Given the description of an element on the screen output the (x, y) to click on. 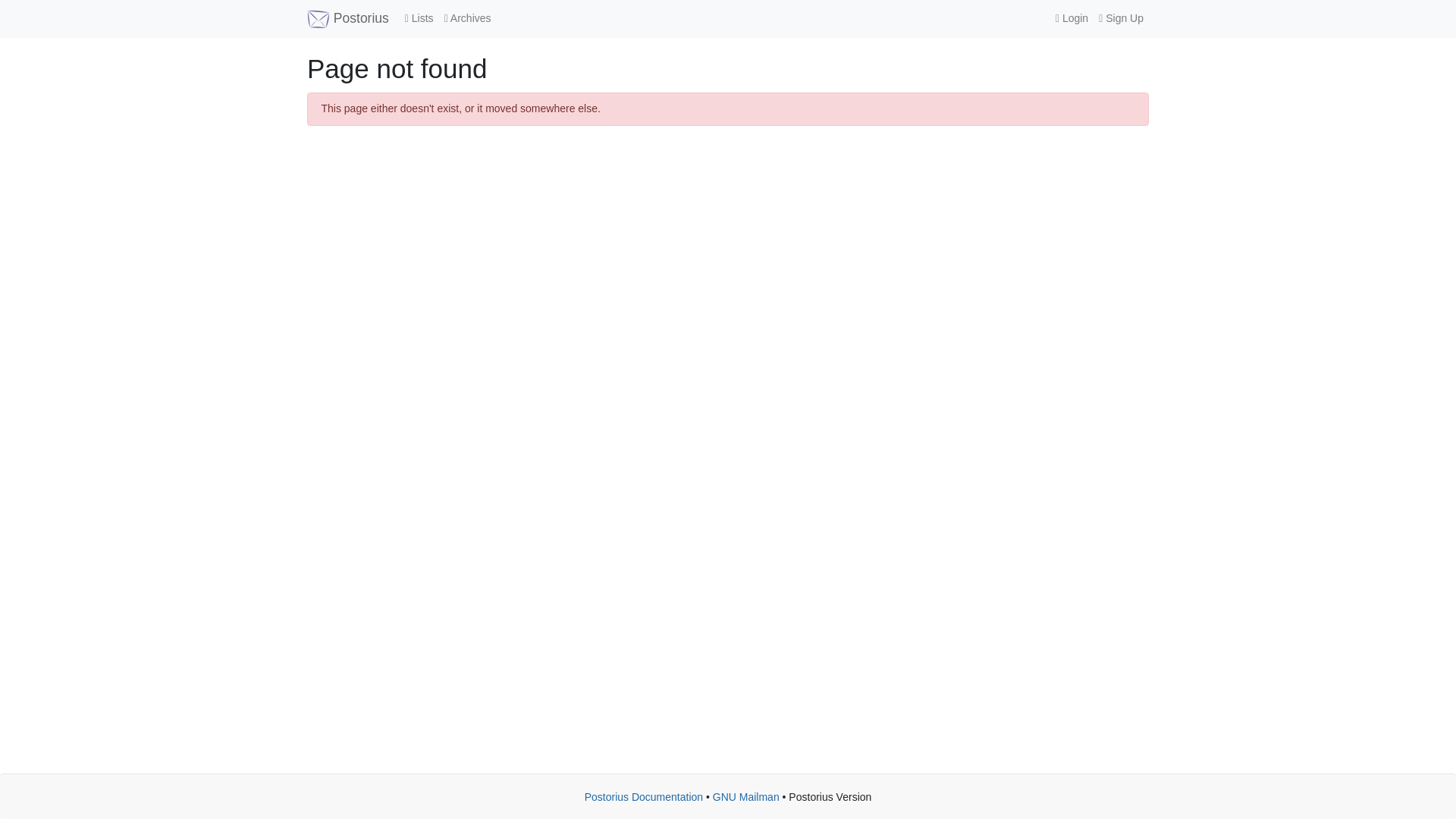
Login (1071, 17)
Sign Up (1120, 17)
Archives (467, 17)
Lists (418, 17)
Postorius (347, 18)
